Given the description of an element on the screen output the (x, y) to click on. 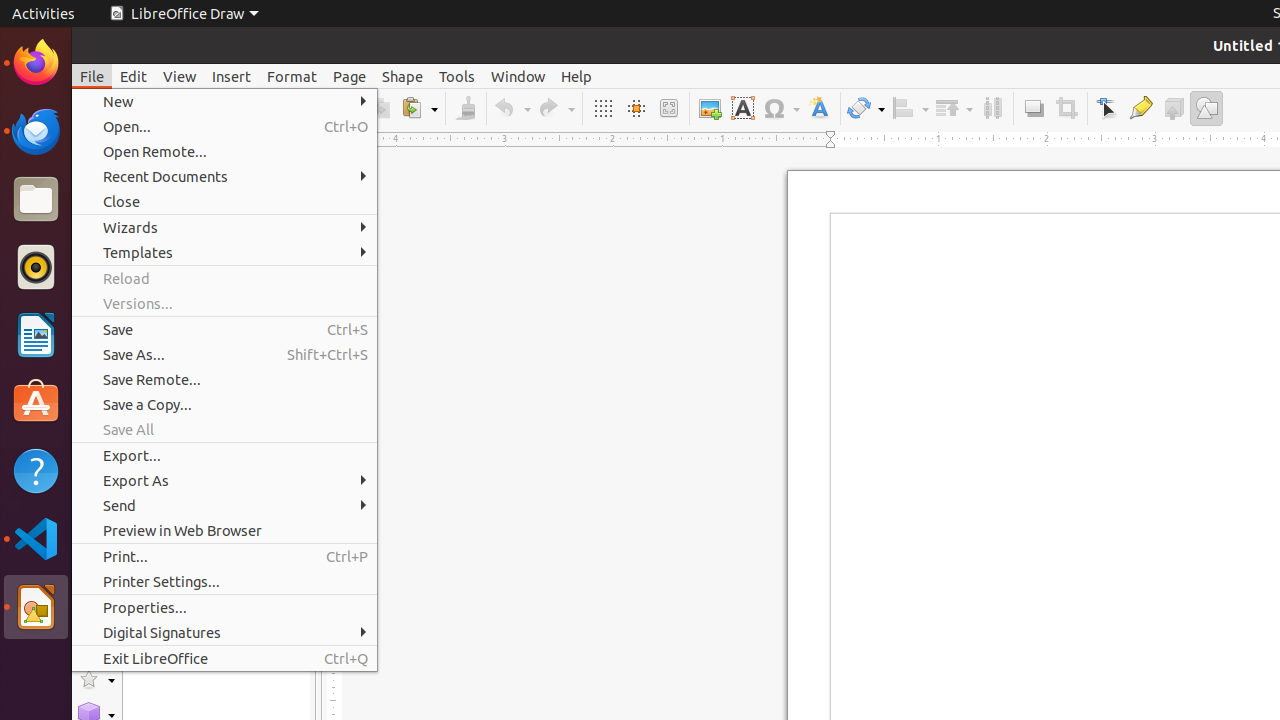
Shape Element type: menu (402, 76)
Save As... Element type: menu-item (224, 354)
View Element type: menu (179, 76)
Toggle Extrusion Element type: push-button (1173, 108)
Insert Element type: menu (231, 76)
